Given the description of an element on the screen output the (x, y) to click on. 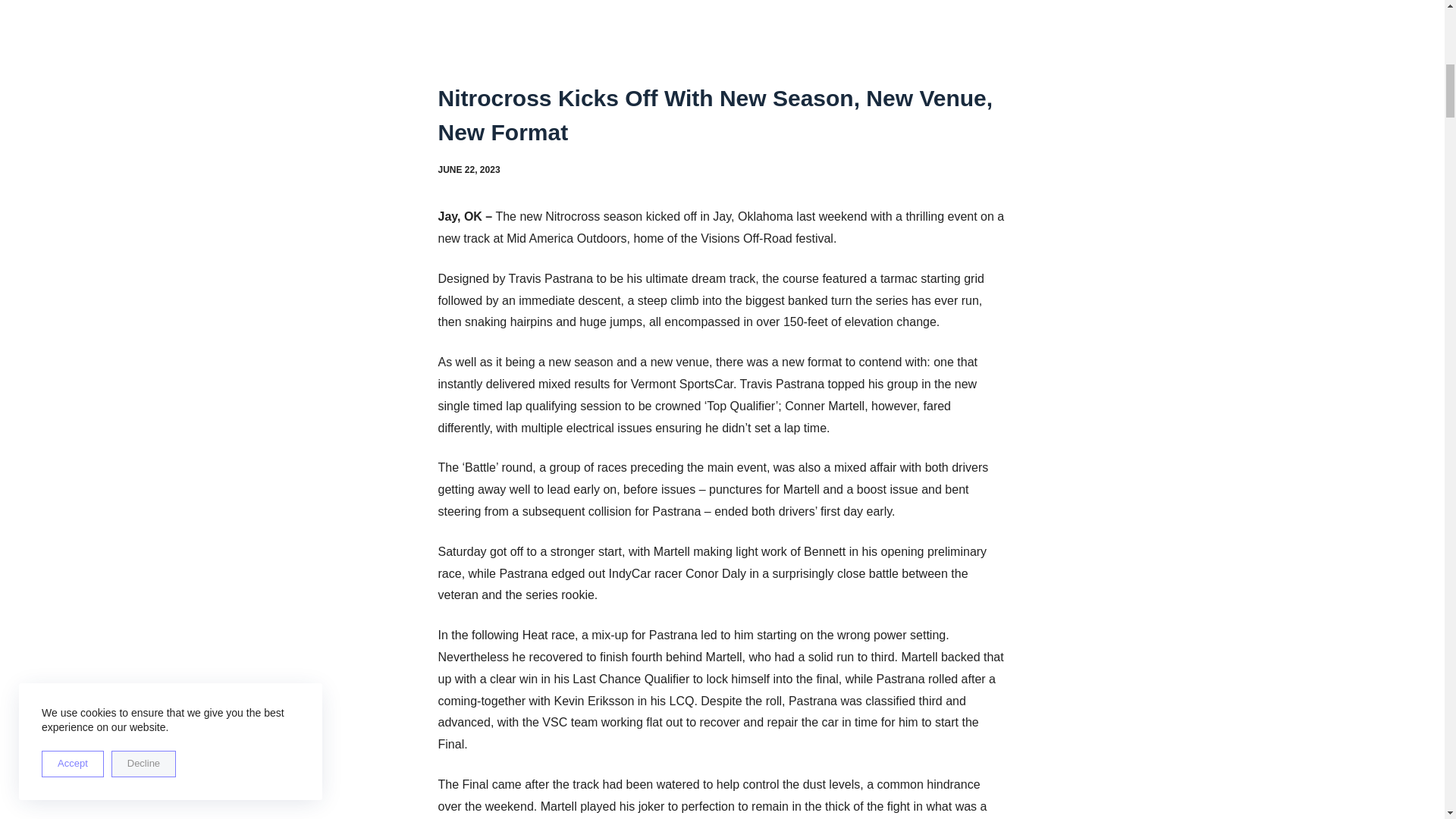
Nitrocross Kicks Off With New Season, New Venue, New Format (722, 115)
